Given the description of an element on the screen output the (x, y) to click on. 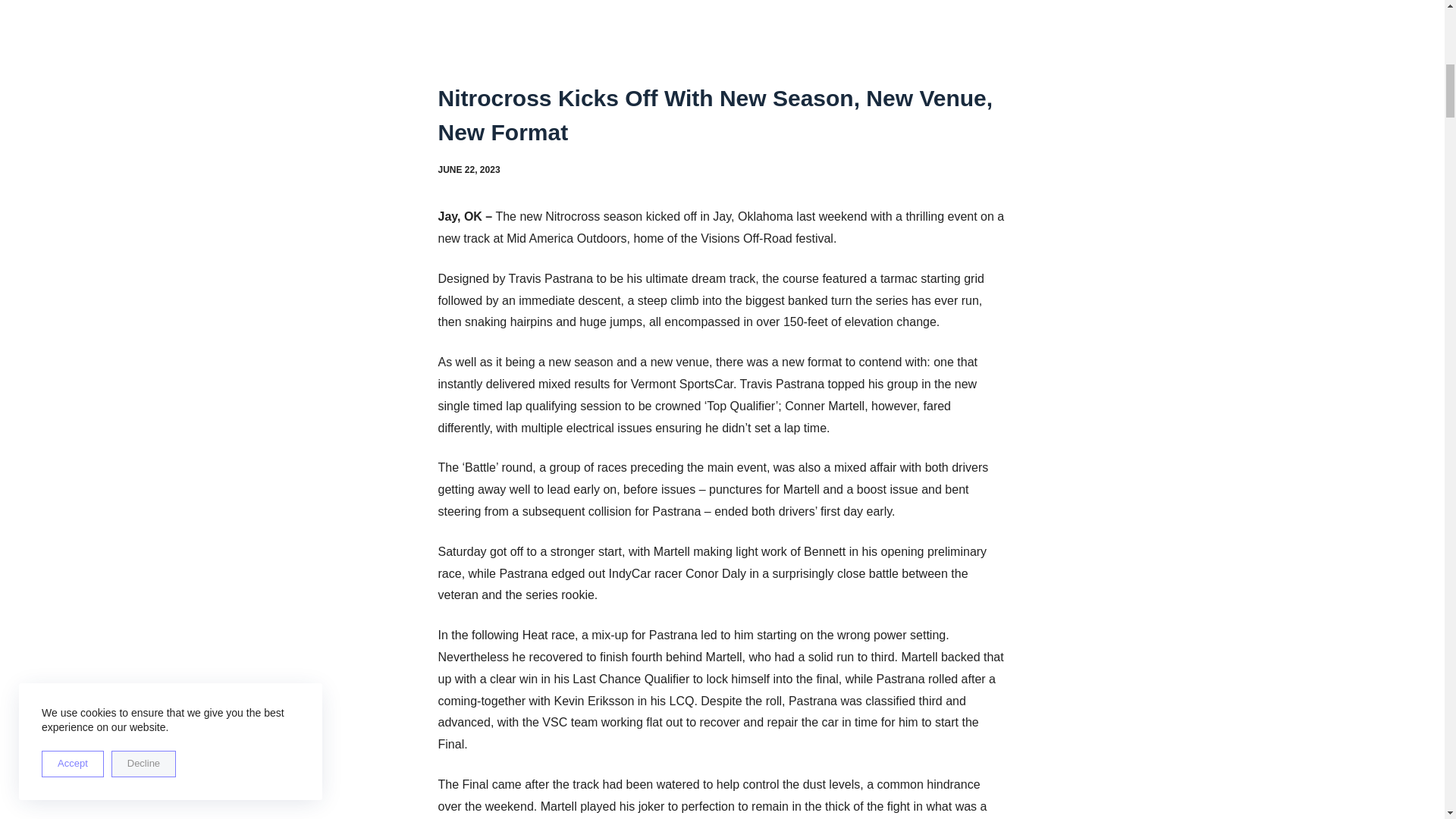
Nitrocross Kicks Off With New Season, New Venue, New Format (722, 115)
